Given the description of an element on the screen output the (x, y) to click on. 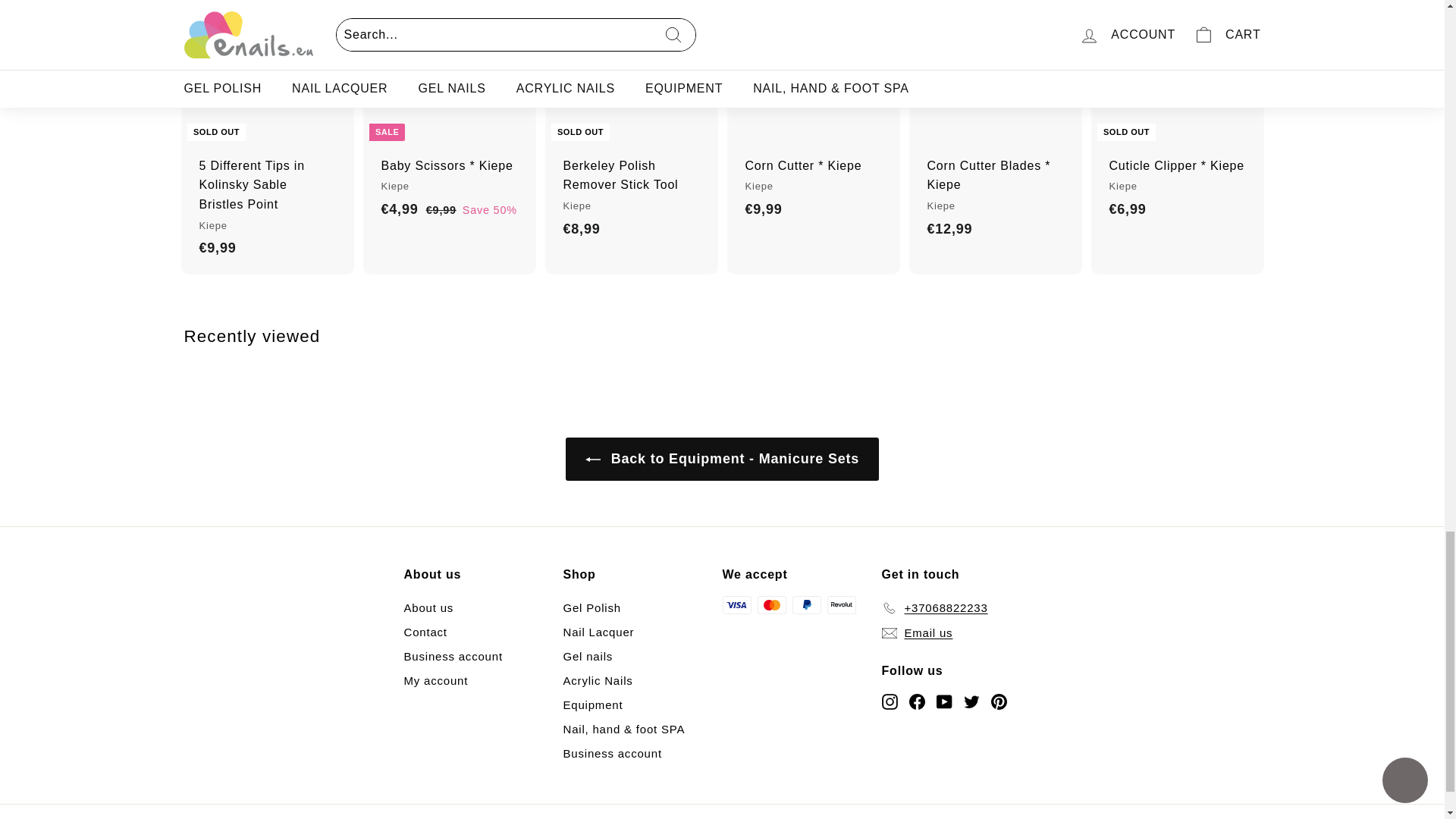
Revolut (841, 605)
Mastercard (771, 605)
Visa (736, 605)
PayPal (806, 605)
